Given the description of an element on the screen output the (x, y) to click on. 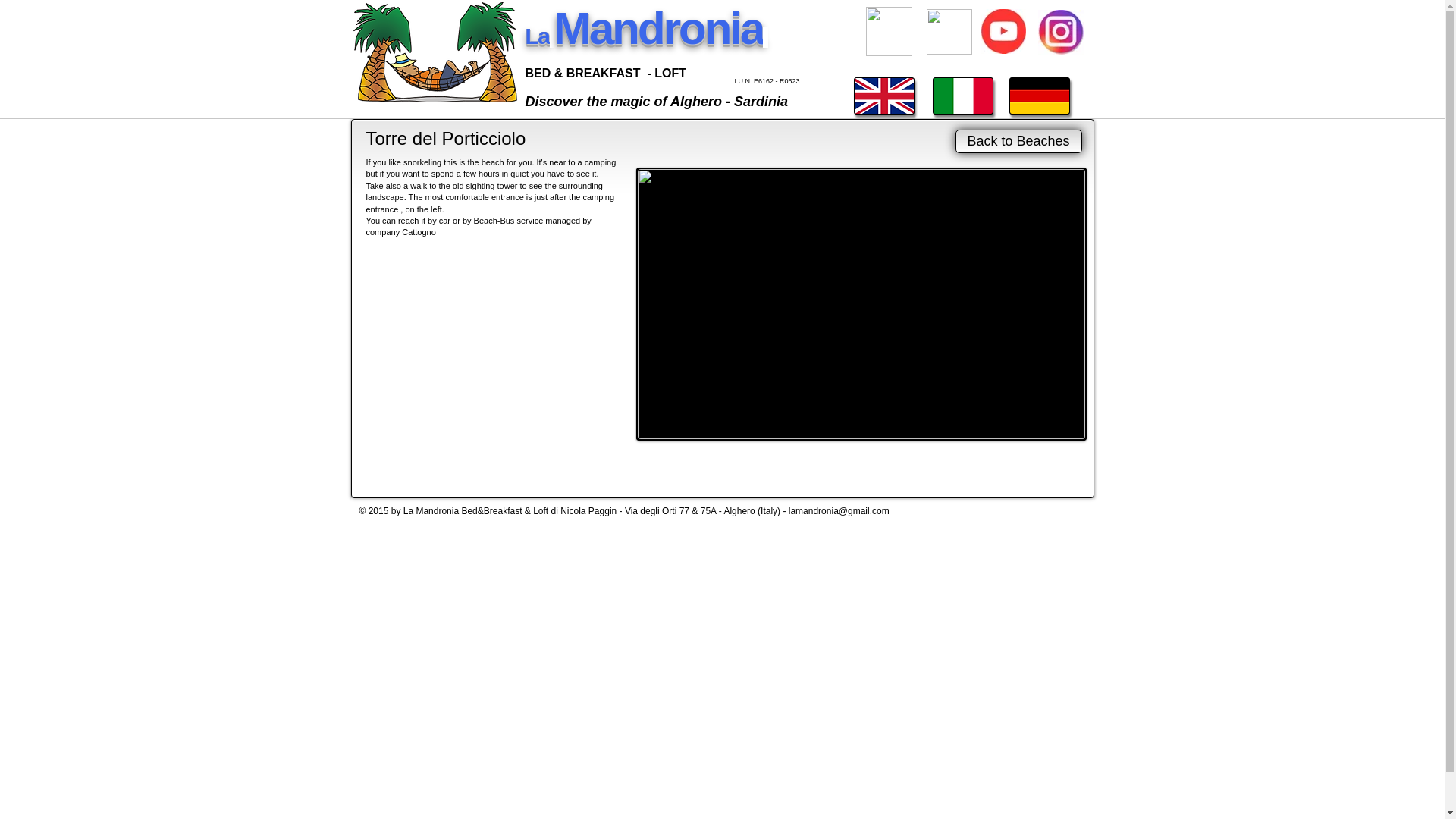
Back to Beaches (1018, 141)
La Mandronia  (646, 37)
